Given the description of an element on the screen output the (x, y) to click on. 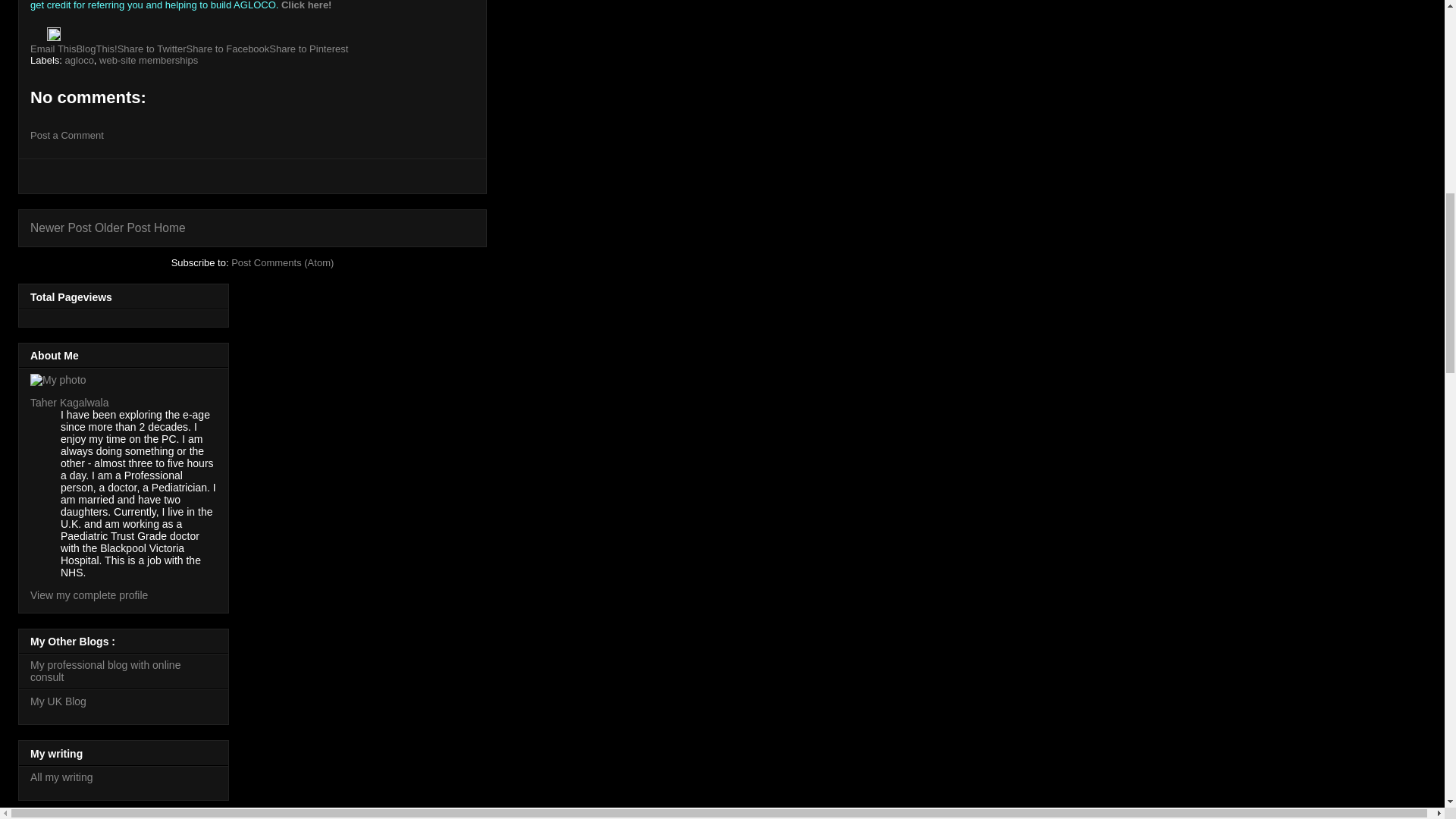
Post a Comment (66, 134)
Share to Pinterest (308, 48)
Share to Twitter (151, 48)
web-site memberships (148, 60)
Older Post (122, 227)
Click here! (306, 5)
All my writing (61, 776)
BlogThis! (95, 48)
Home (170, 227)
Share to Facebook (227, 48)
Email This (52, 48)
BlogThis! (95, 48)
Share to Pinterest (308, 48)
Share to Facebook (227, 48)
Newer Post (60, 227)
